Given the description of an element on the screen output the (x, y) to click on. 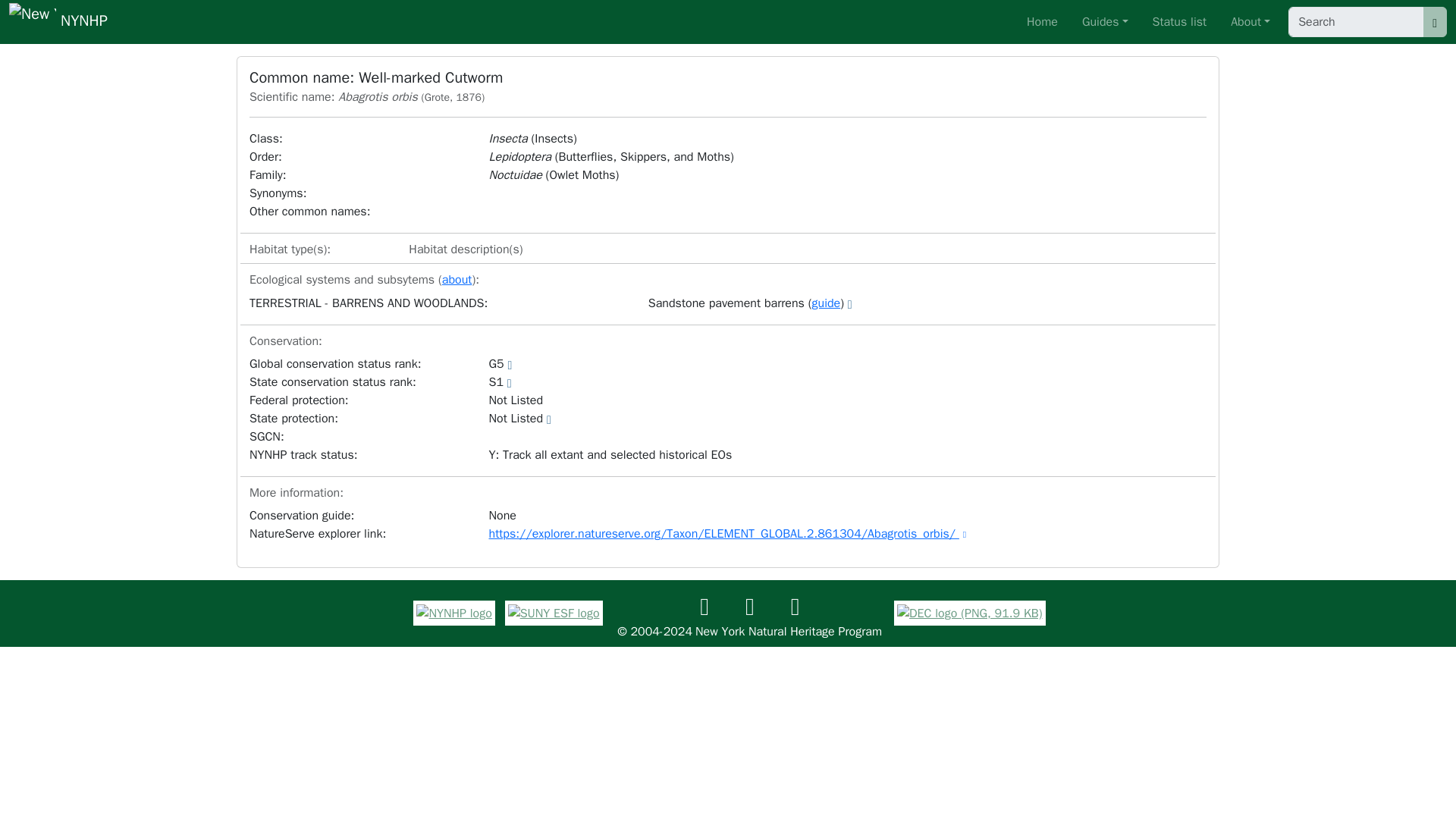
About (1250, 21)
NYNHP (57, 21)
about (456, 279)
Status list (1179, 21)
Guides (1104, 21)
Home (1042, 21)
guide (825, 303)
